Given the description of an element on the screen output the (x, y) to click on. 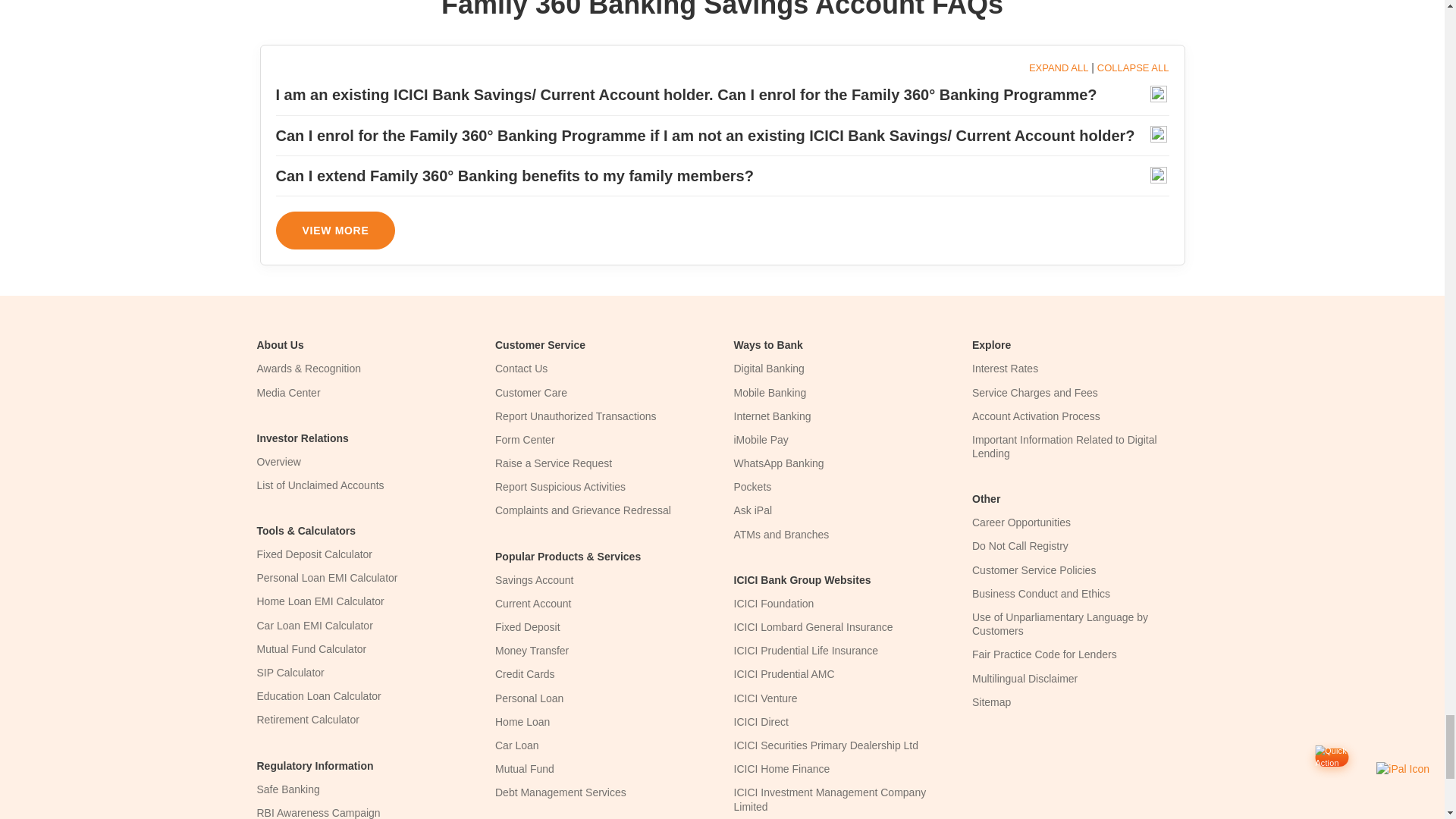
Fixed Deposit Calculator (314, 553)
SIP Calculator (289, 672)
Overview (277, 461)
Home Loan EMI Calculator (320, 601)
Mutual Fund Calculator (311, 648)
Media Center (288, 392)
Education Loan Calculator (318, 695)
Car Loan EMI Calculator (314, 625)
List of Unclaimed Accounts (320, 485)
Retirement Calculator (307, 719)
